Given the description of an element on the screen output the (x, y) to click on. 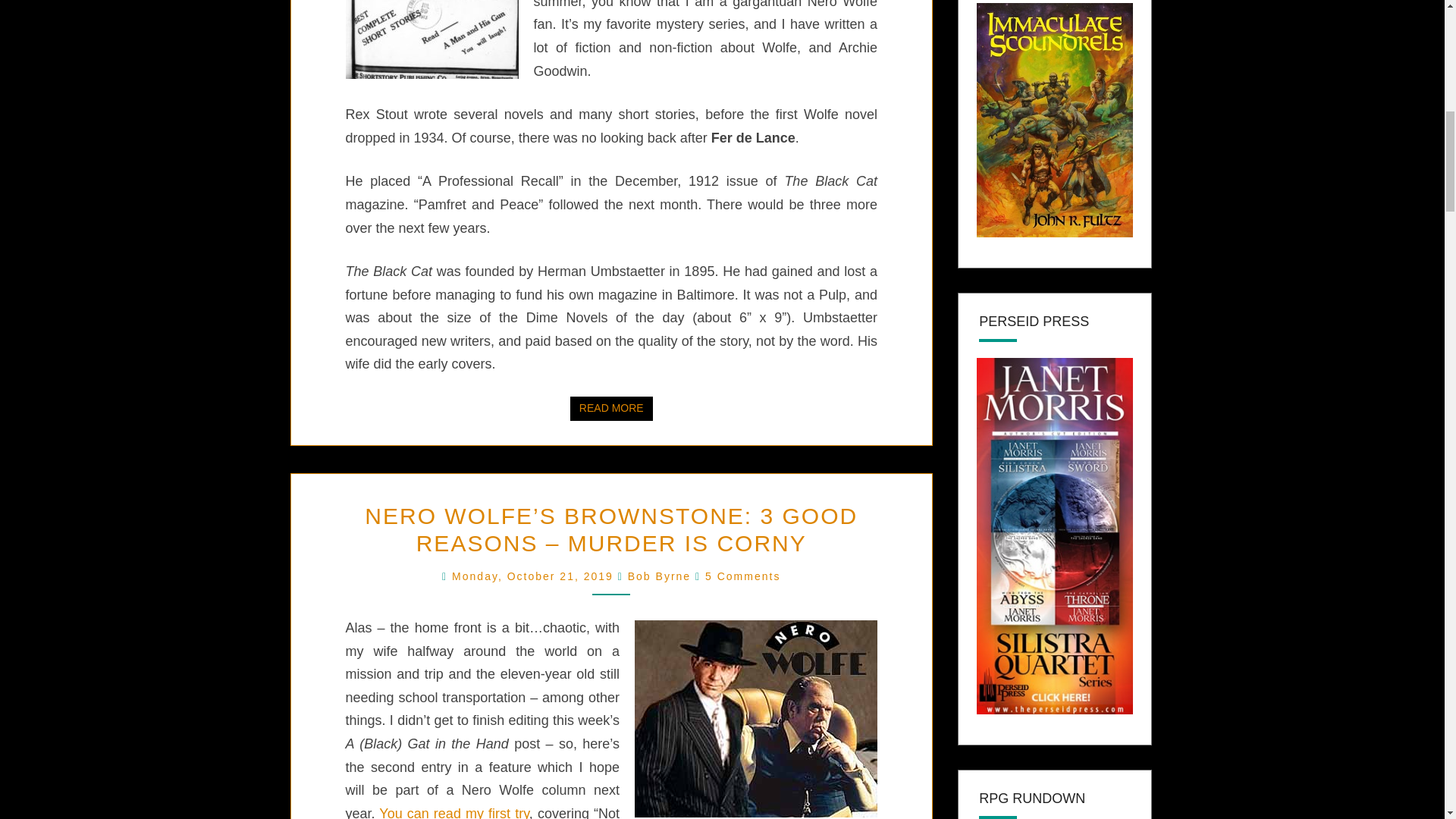
Monday, October 21, 2019 (611, 408)
Bob Byrne (534, 576)
5 Comments (658, 576)
You can read my first try (742, 576)
9:00 am (453, 812)
View all posts by Bob Byrne (534, 576)
